Given the description of an element on the screen output the (x, y) to click on. 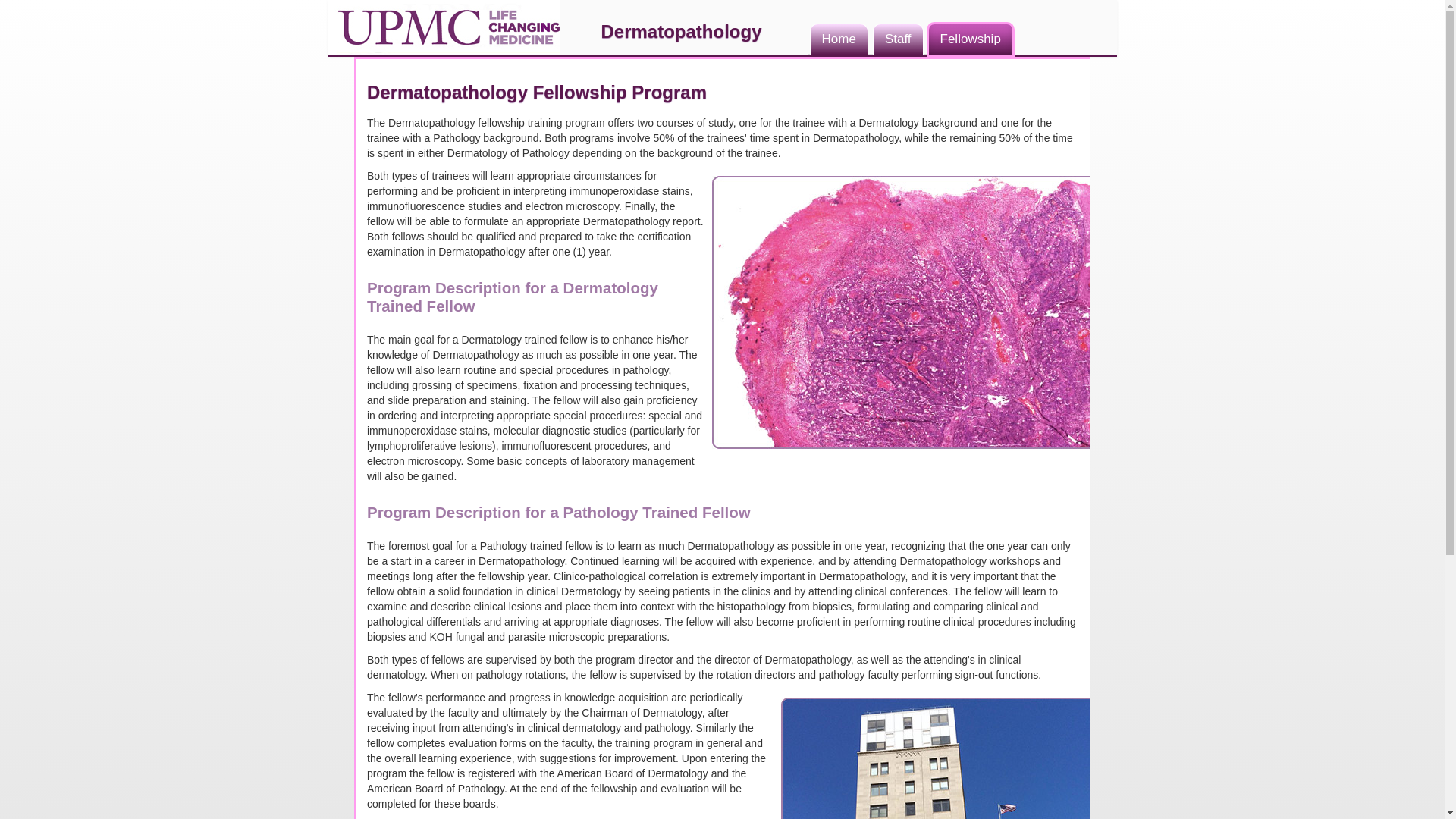
Fellowship (970, 39)
Staff (897, 38)
Home (838, 38)
Dermatopathology (680, 31)
